Given the description of an element on the screen output the (x, y) to click on. 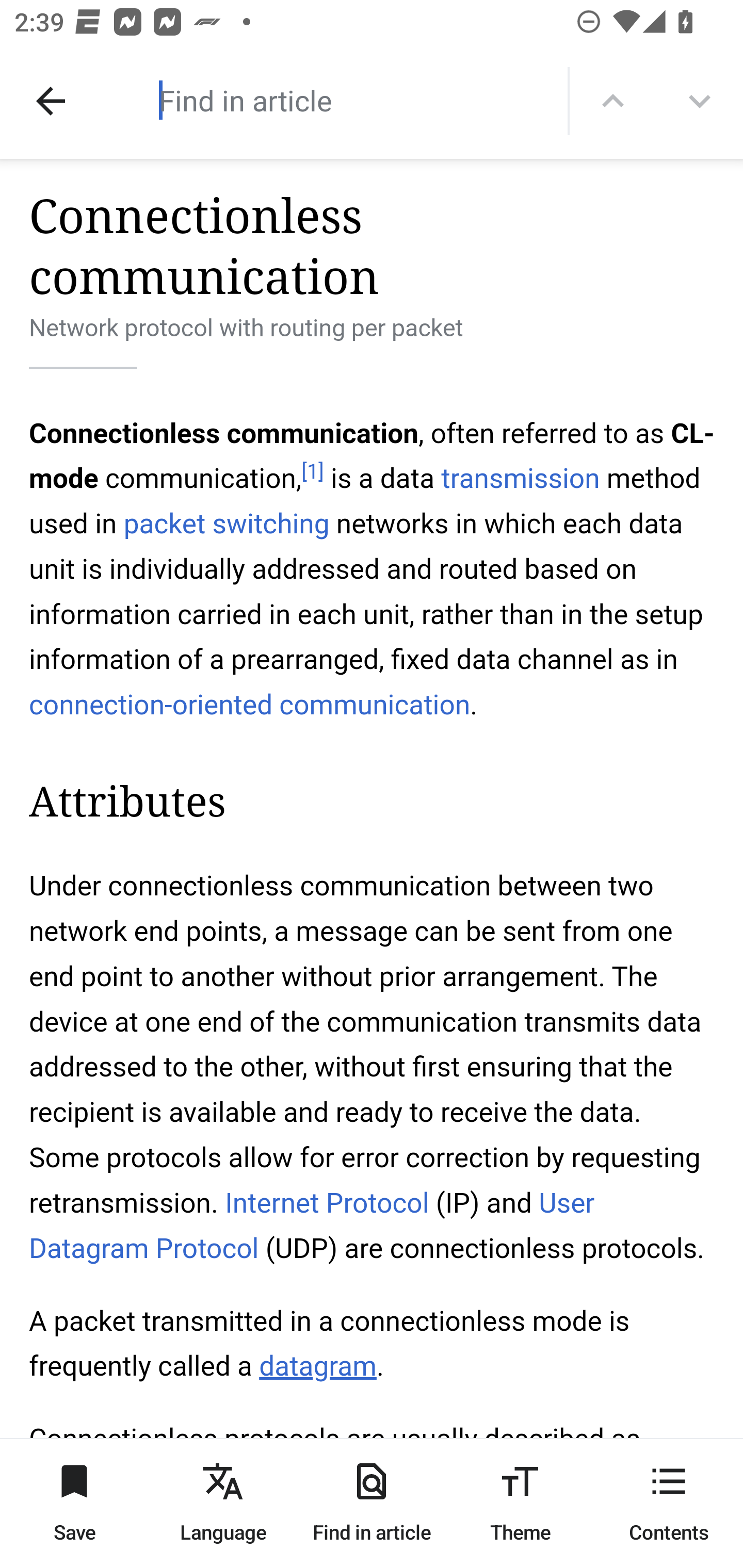
Done (50, 101)
Find previous (612, 101)
Find next (699, 101)
Find in article (334, 100)
[] [ 1 ] (312, 471)
transmission (520, 478)
packet switching (225, 523)
connection-oriented communication (249, 704)
User Datagram Protocol (311, 1225)
Internet Protocol (326, 1202)
datagram (317, 1367)
Save (74, 1502)
Language (222, 1502)
Find in article (371, 1502)
Theme (519, 1502)
Contents (668, 1502)
